Given the description of an element on the screen output the (x, y) to click on. 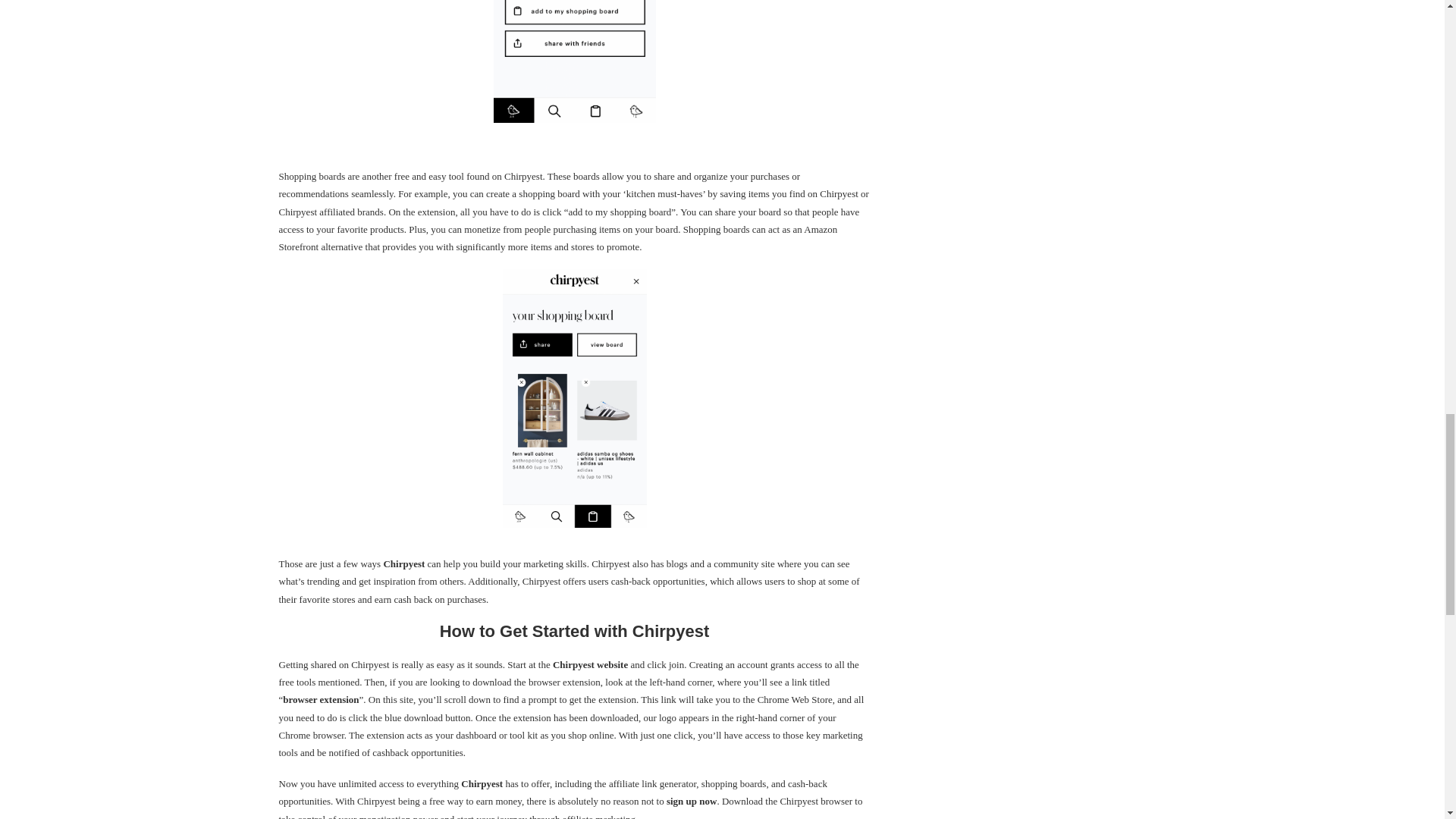
browser extension (320, 699)
Chirpyest website (590, 664)
sign up now (691, 800)
Chirpyest (481, 783)
Chirpyest (403, 563)
